Given the description of an element on the screen output the (x, y) to click on. 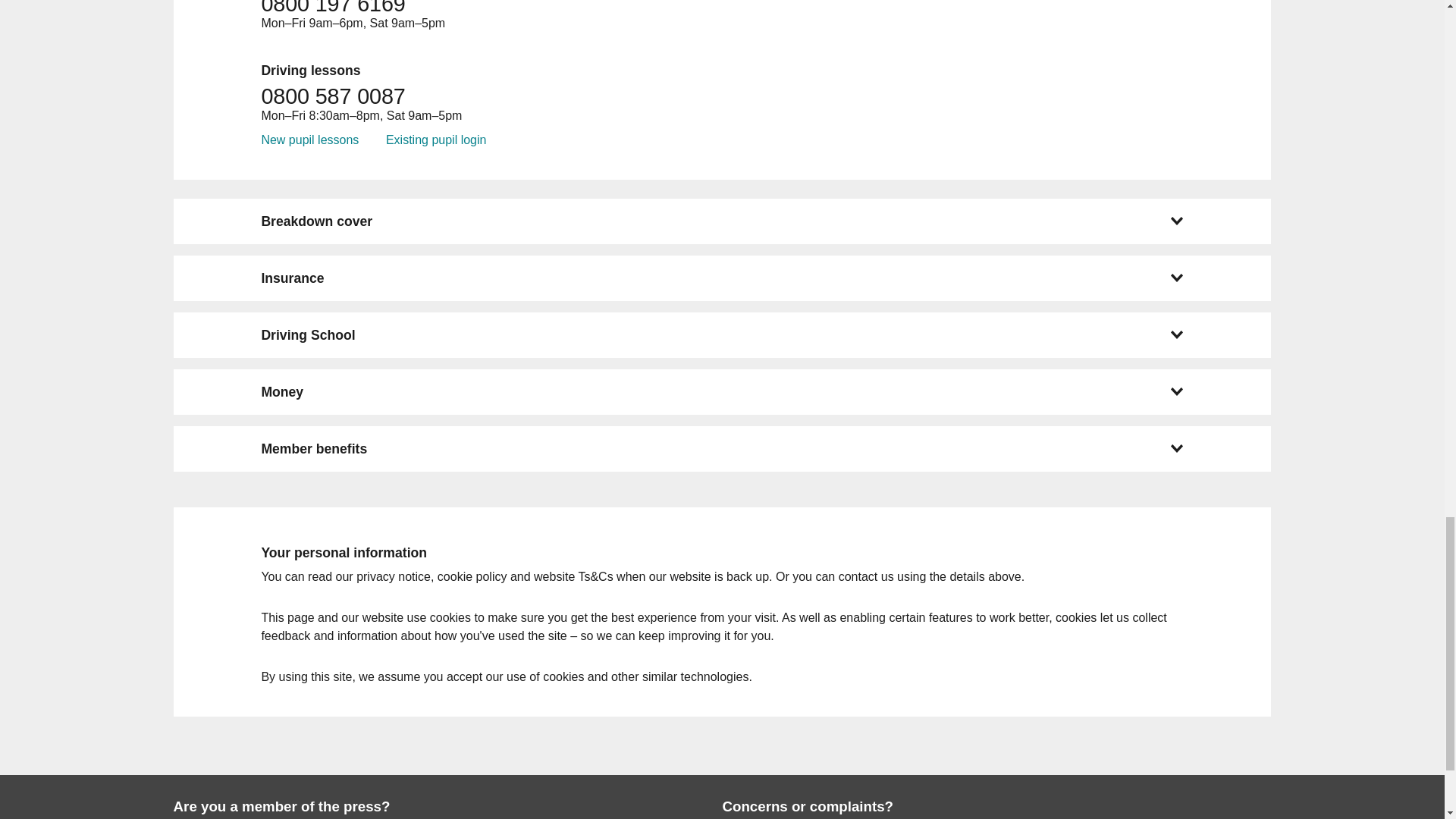
New pupil lessons (309, 140)
Existing pupil login (435, 140)
